Given the description of an element on the screen output the (x, y) to click on. 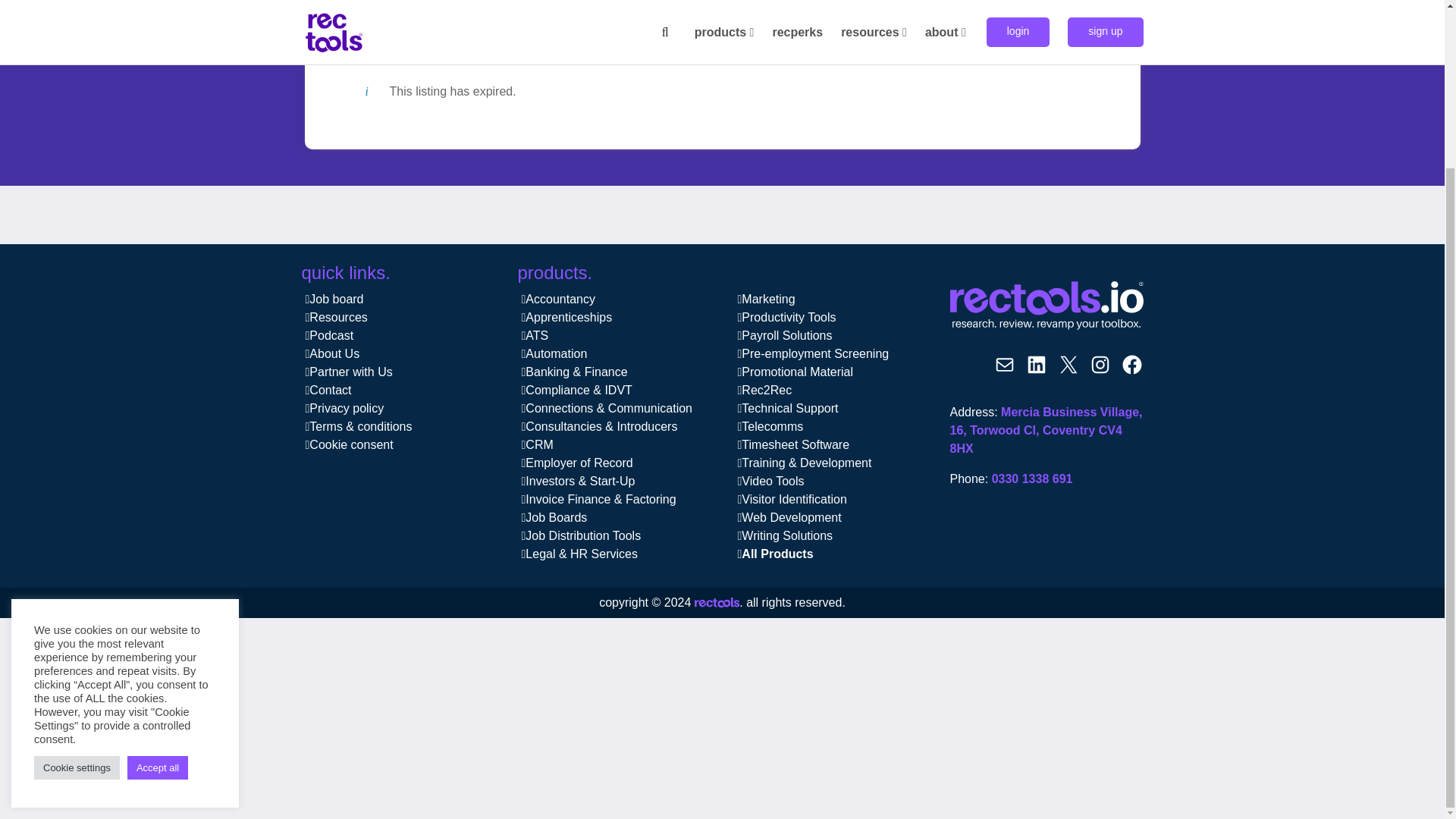
rectools.io (716, 603)
Rectools.io (1045, 305)
